Given the description of an element on the screen output the (x, y) to click on. 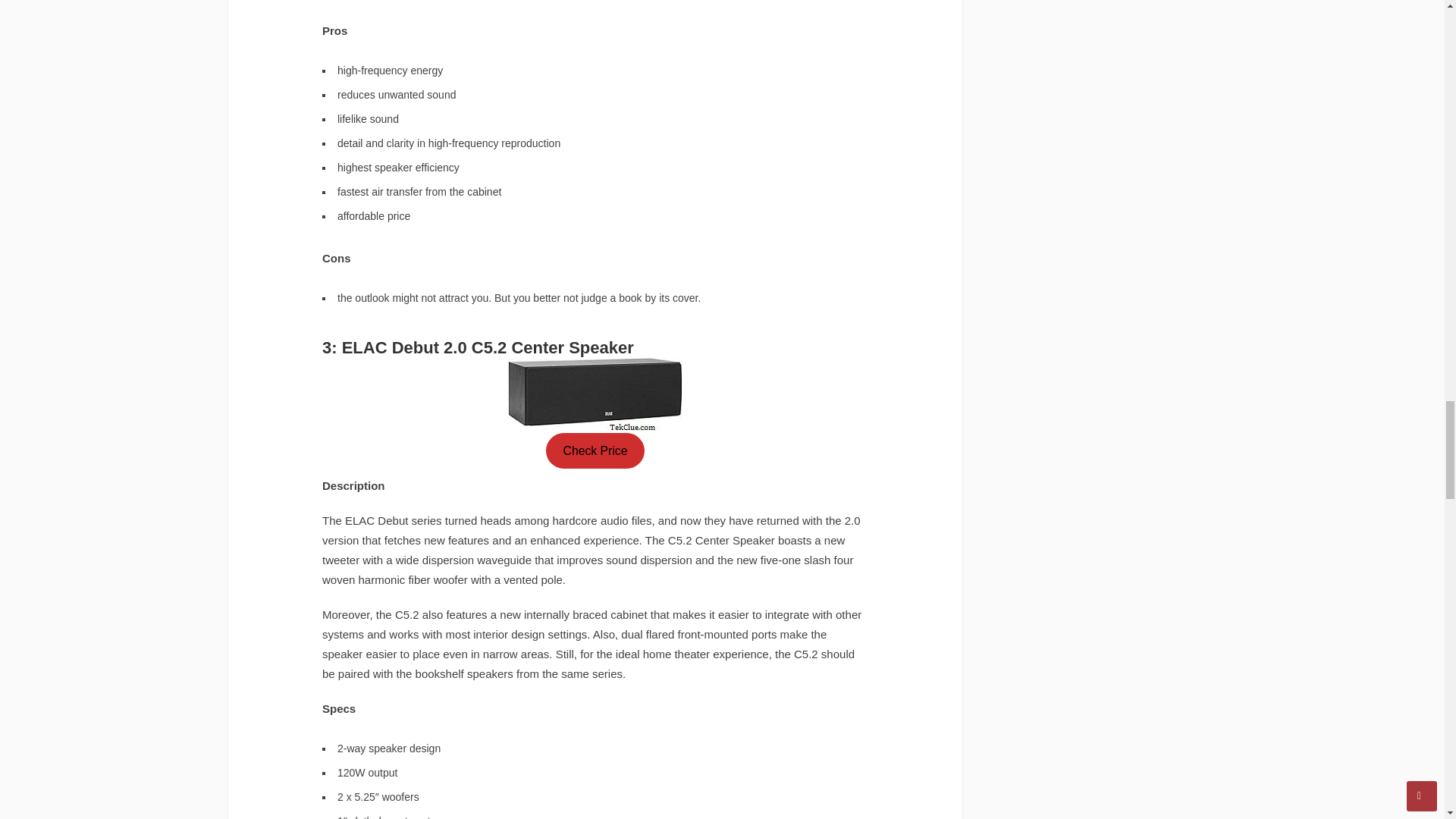
Check Price (595, 450)
